Given the description of an element on the screen output the (x, y) to click on. 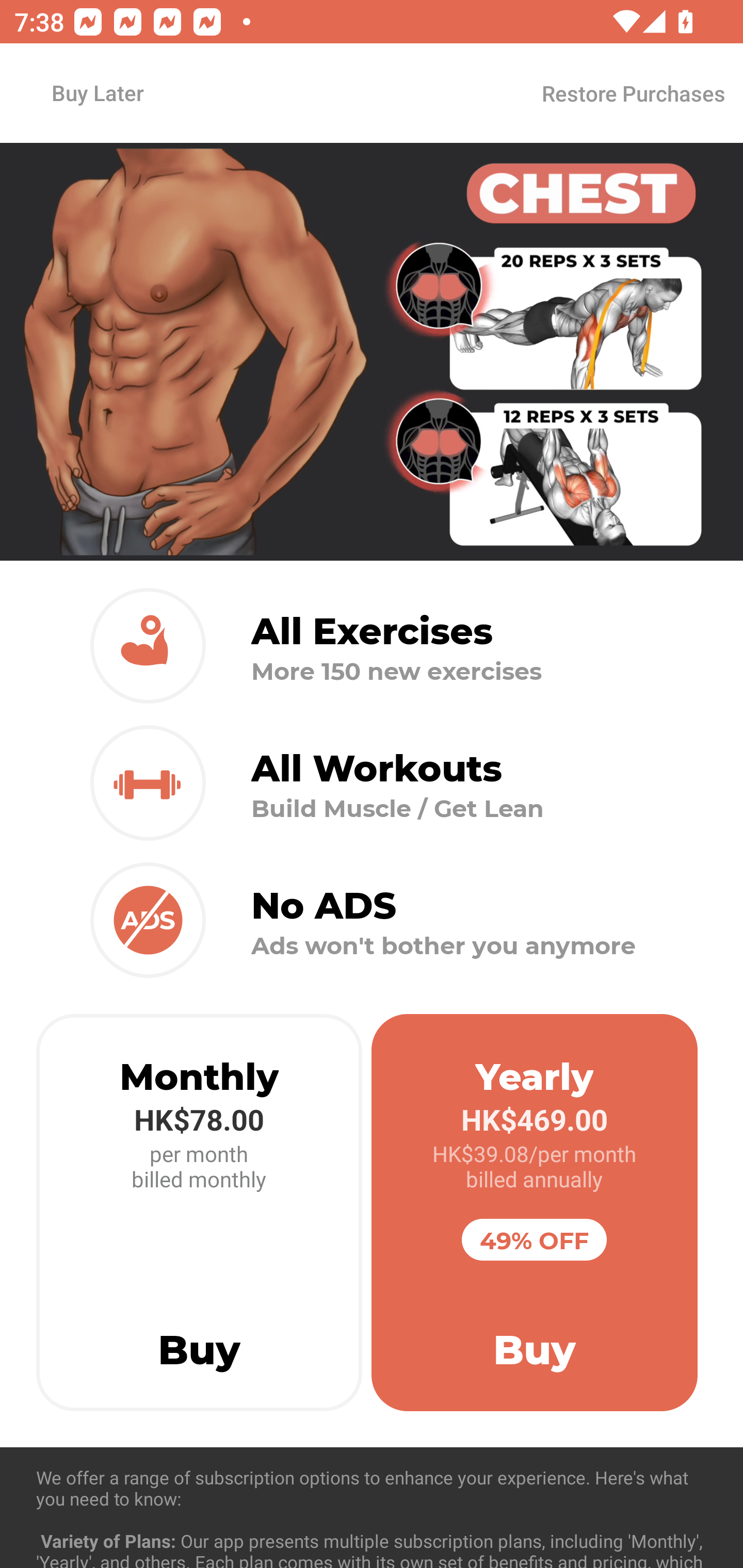
Restore Purchases (632, 92)
Buy Later (96, 92)
Monthly HK$78.00 per month
billed monthly Buy (199, 1212)
